Given the description of an element on the screen output the (x, y) to click on. 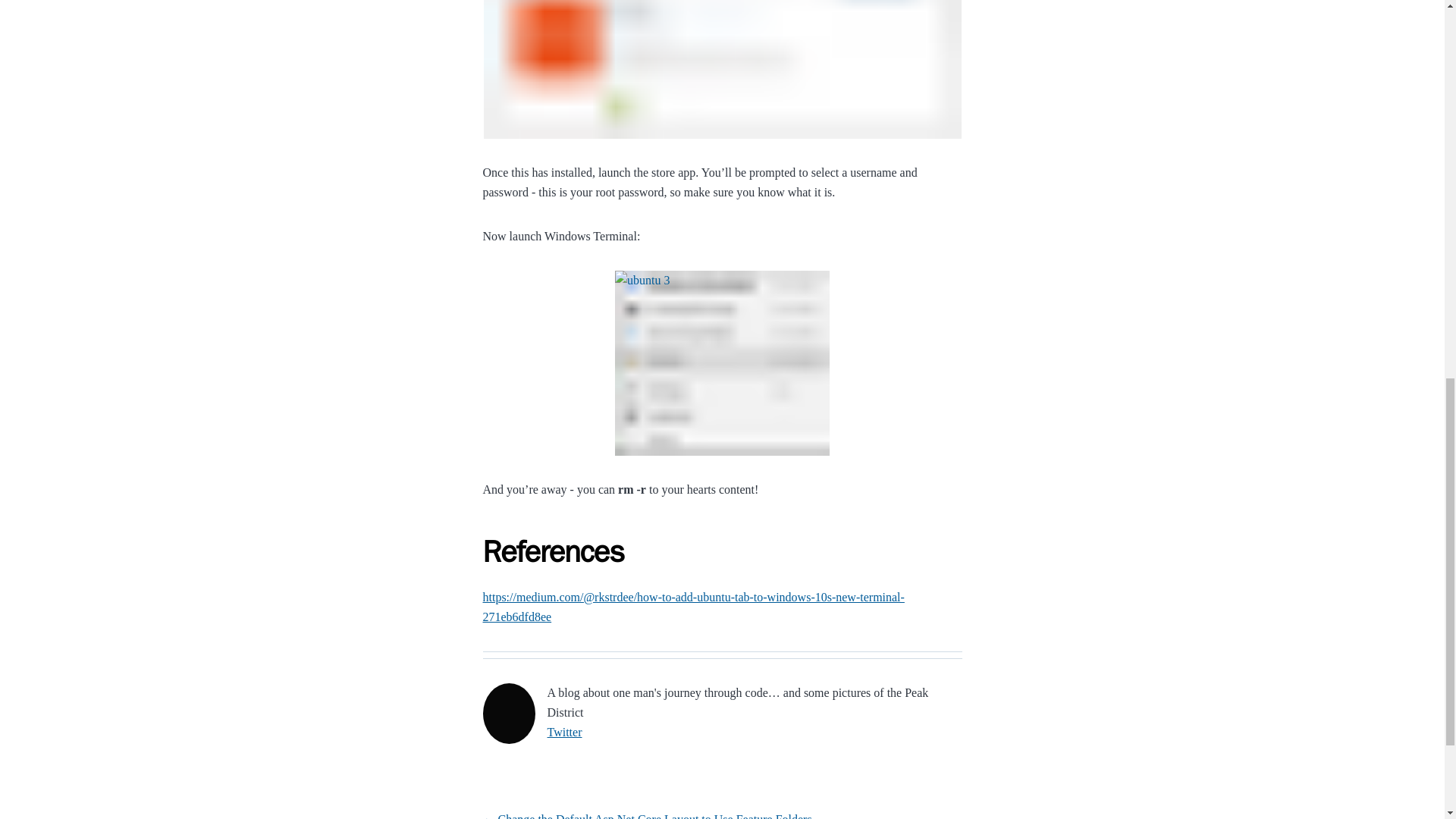
Twitter (564, 731)
ubuntu 3 (721, 363)
ubuntu 2 (721, 69)
